Given the description of an element on the screen output the (x, y) to click on. 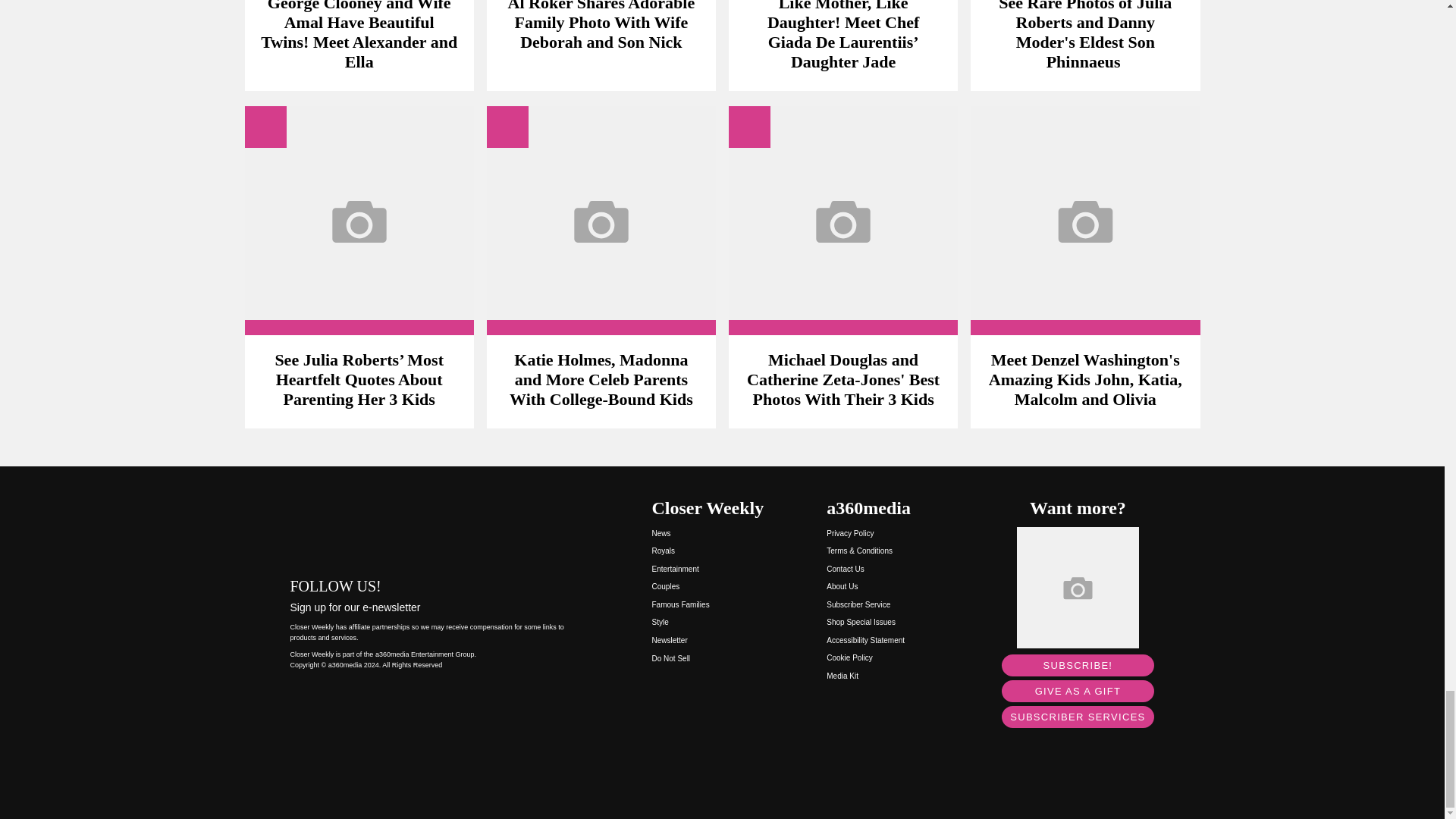
Home (434, 526)
